Given the description of an element on the screen output the (x, y) to click on. 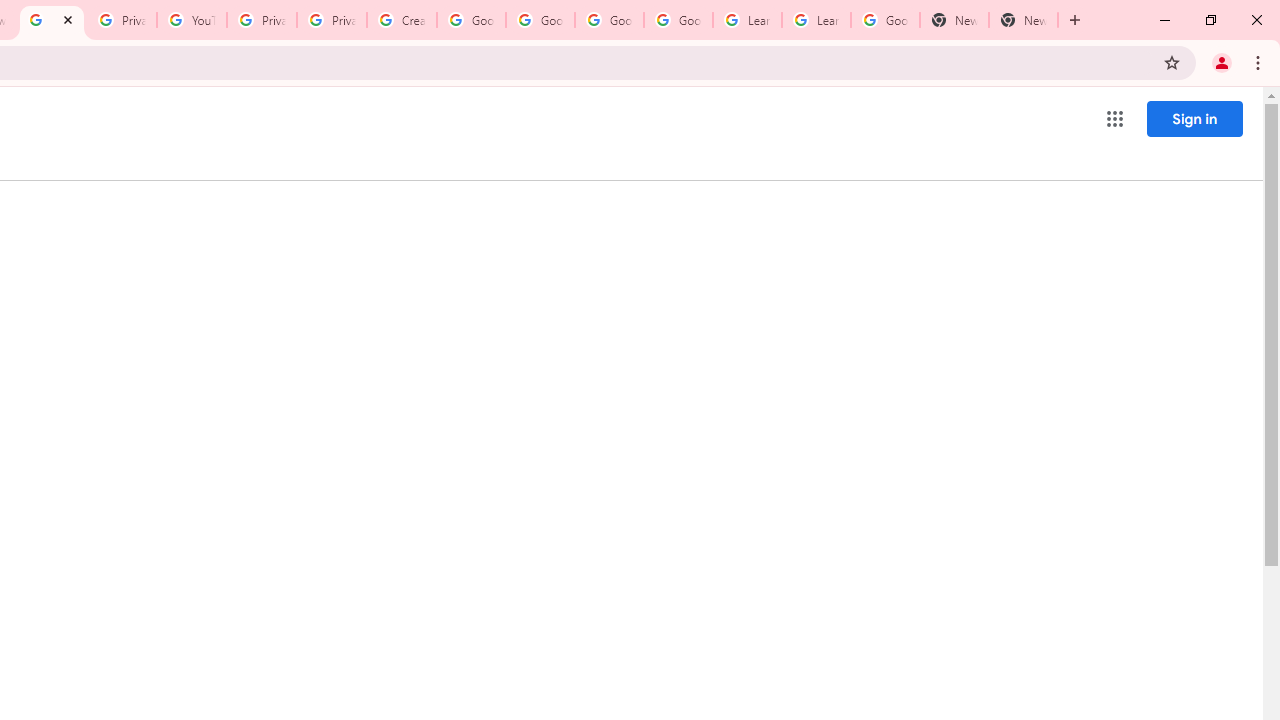
New Tab (954, 20)
New Tab (1023, 20)
YouTube (191, 20)
